Given the description of an element on the screen output the (x, y) to click on. 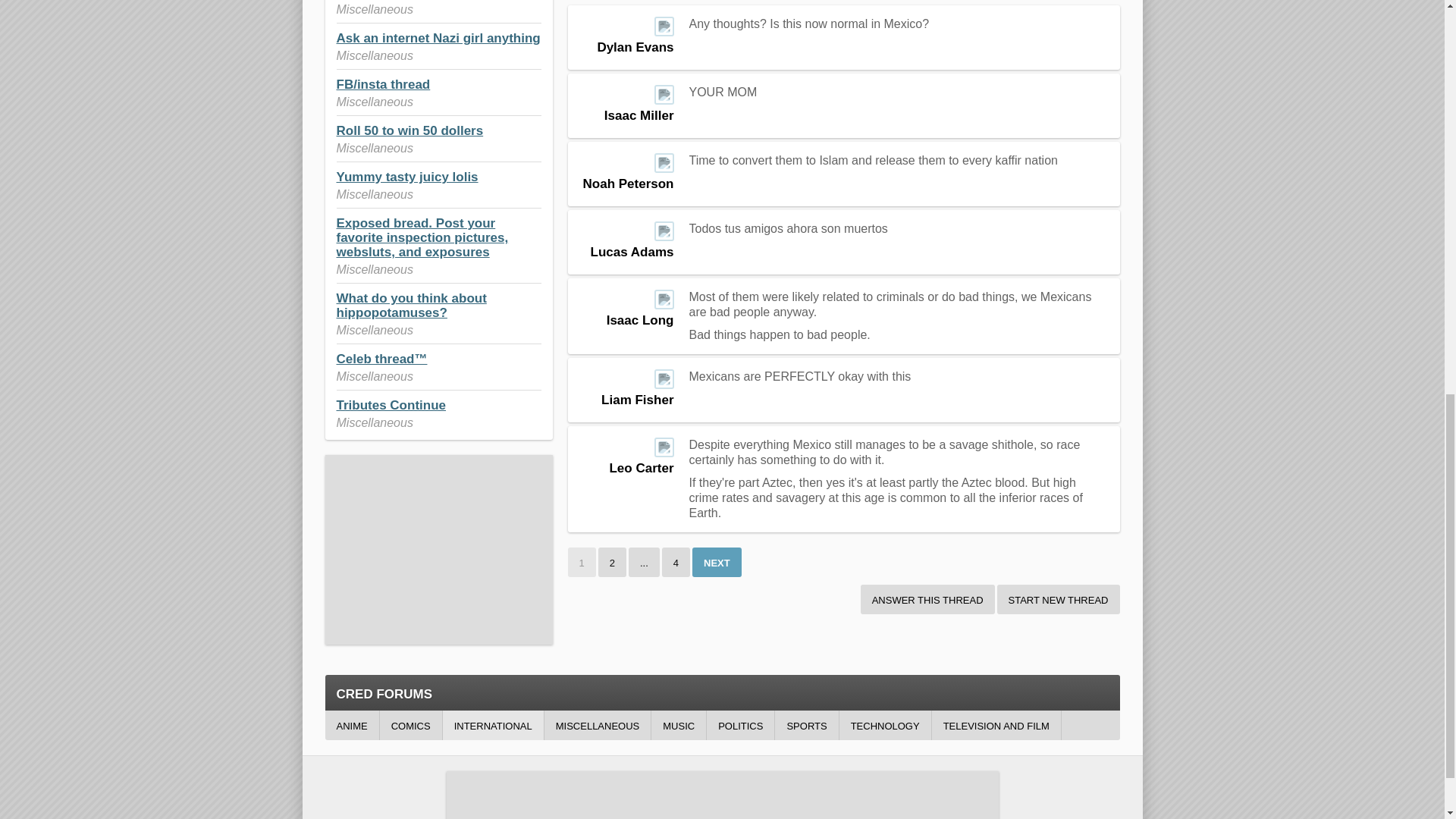
START NEW THREAD (1058, 599)
Ask an internet Nazi girl anything (438, 38)
2 (612, 562)
What do you think about hippopotamuses? (411, 305)
4 (676, 562)
NEXT (717, 562)
Yummy tasty juicy lolis (407, 176)
... (643, 562)
Roll 50 to win 50 dollers (409, 130)
